Given the description of an element on the screen output the (x, y) to click on. 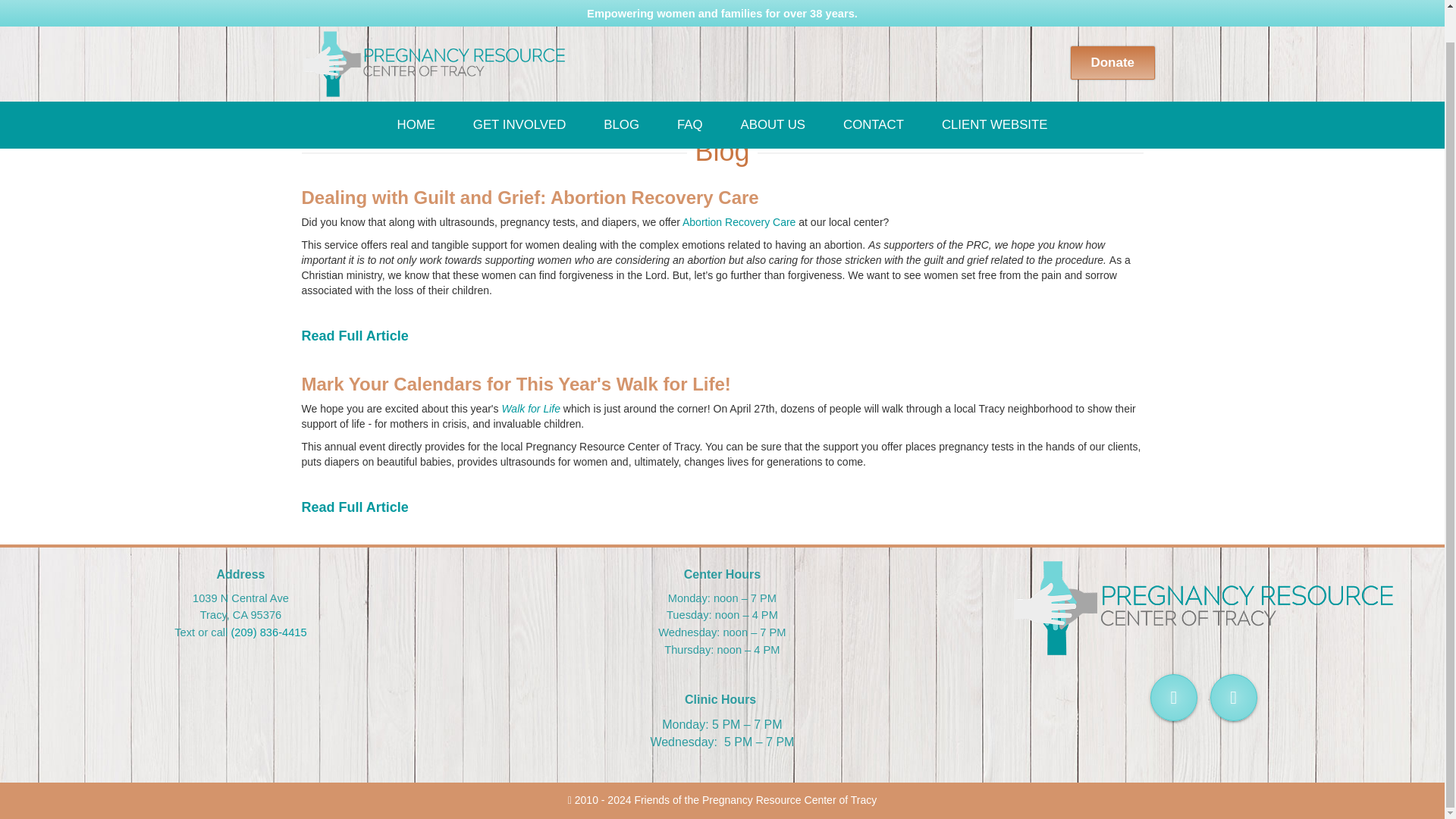
CLIENT WEBSITE (994, 91)
FAQ (689, 91)
GET INVOLVED (518, 91)
CONTACT (873, 91)
Read Full Article (355, 507)
Abortion Recovery Care (738, 222)
BLOG (621, 91)
ABOUT US (772, 91)
Friends of the Pregnancy Resource Center of Tracy (433, 33)
HOME (415, 91)
Donate (1112, 29)
Walk for Life (530, 408)
Read Full Article (355, 335)
